Given the description of an element on the screen output the (x, y) to click on. 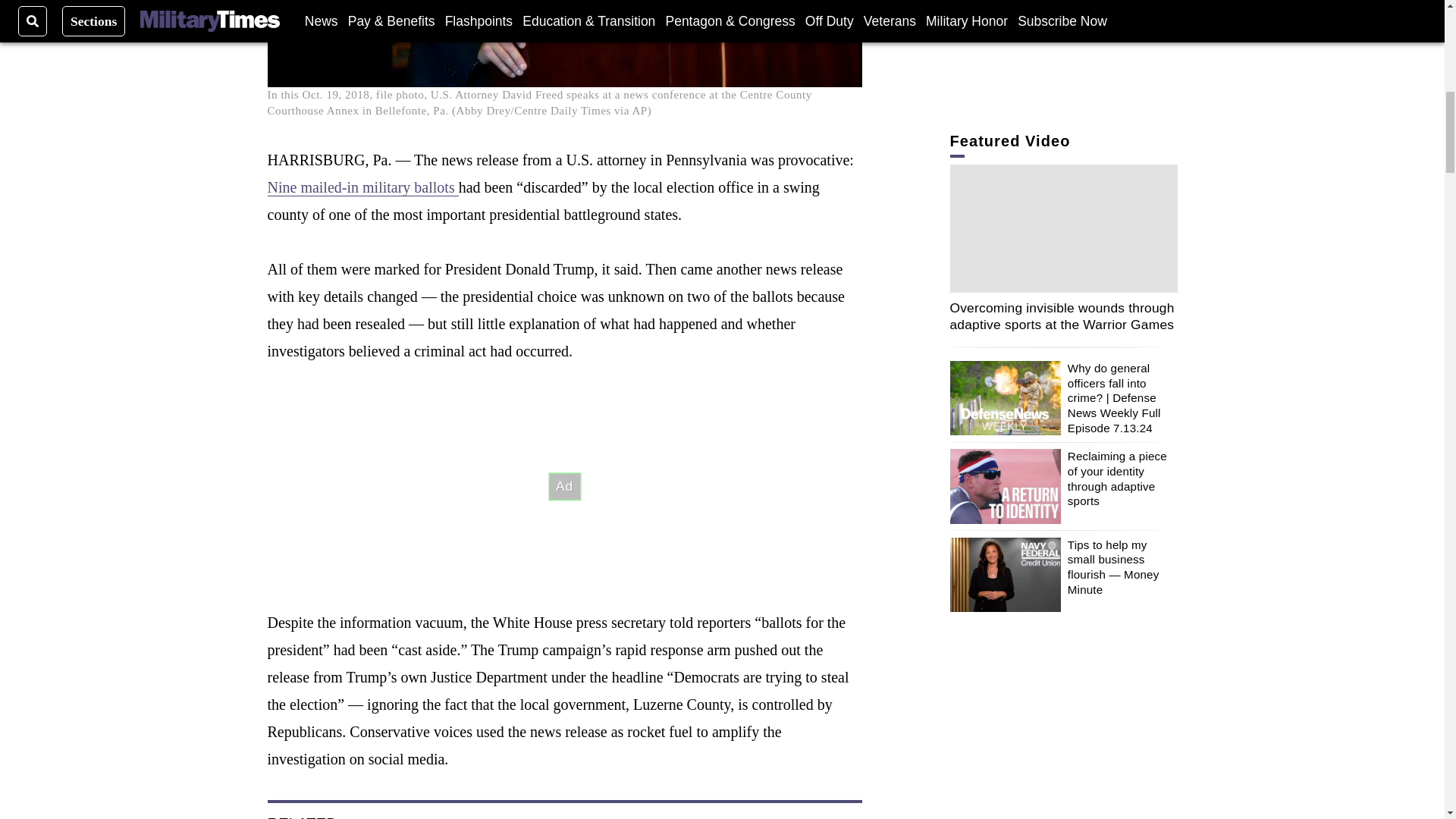
3rd party ad content (563, 486)
